Given the description of an element on the screen output the (x, y) to click on. 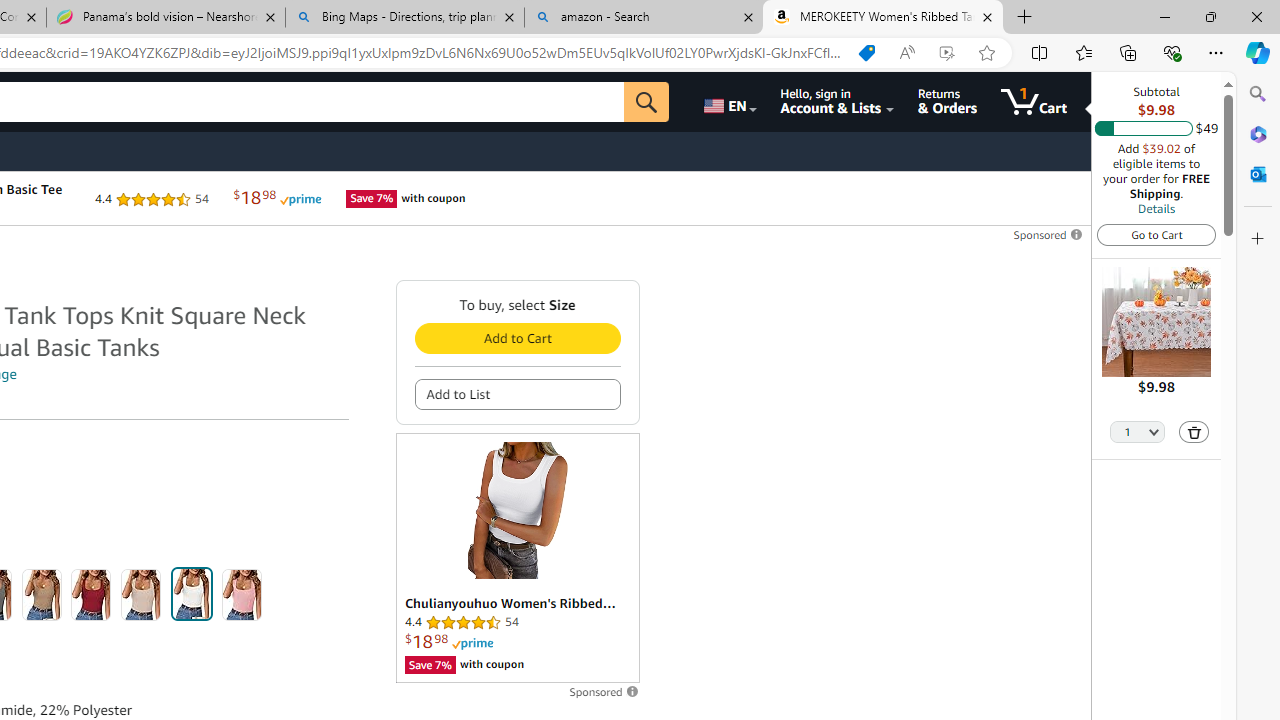
1 item in cart (1034, 101)
White (191, 593)
Sand (141, 594)
Add to List (516, 394)
